Given the description of an element on the screen output the (x, y) to click on. 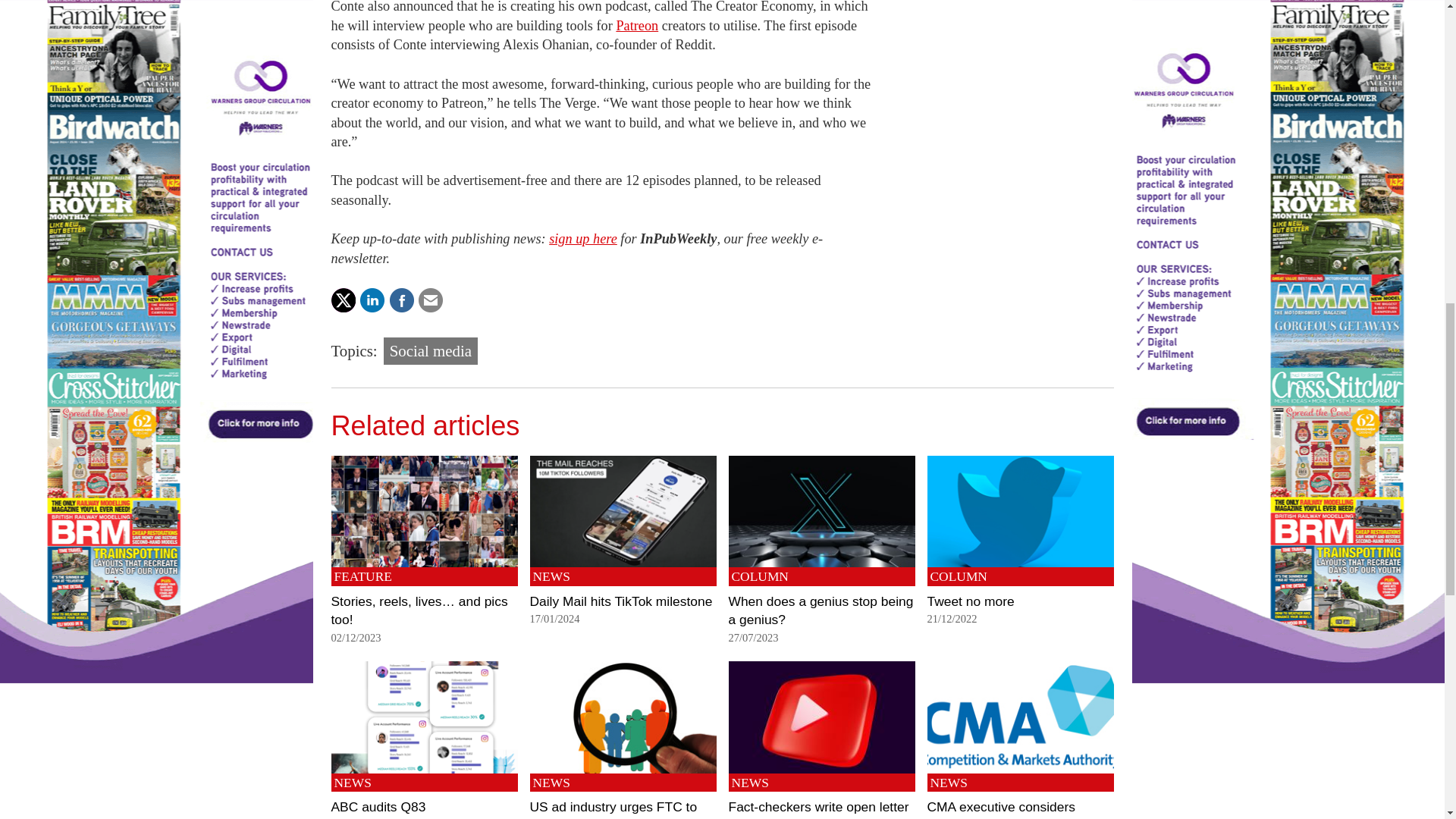
Patreon (636, 25)
sign up here (582, 238)
Social media (430, 350)
